Given the description of an element on the screen output the (x, y) to click on. 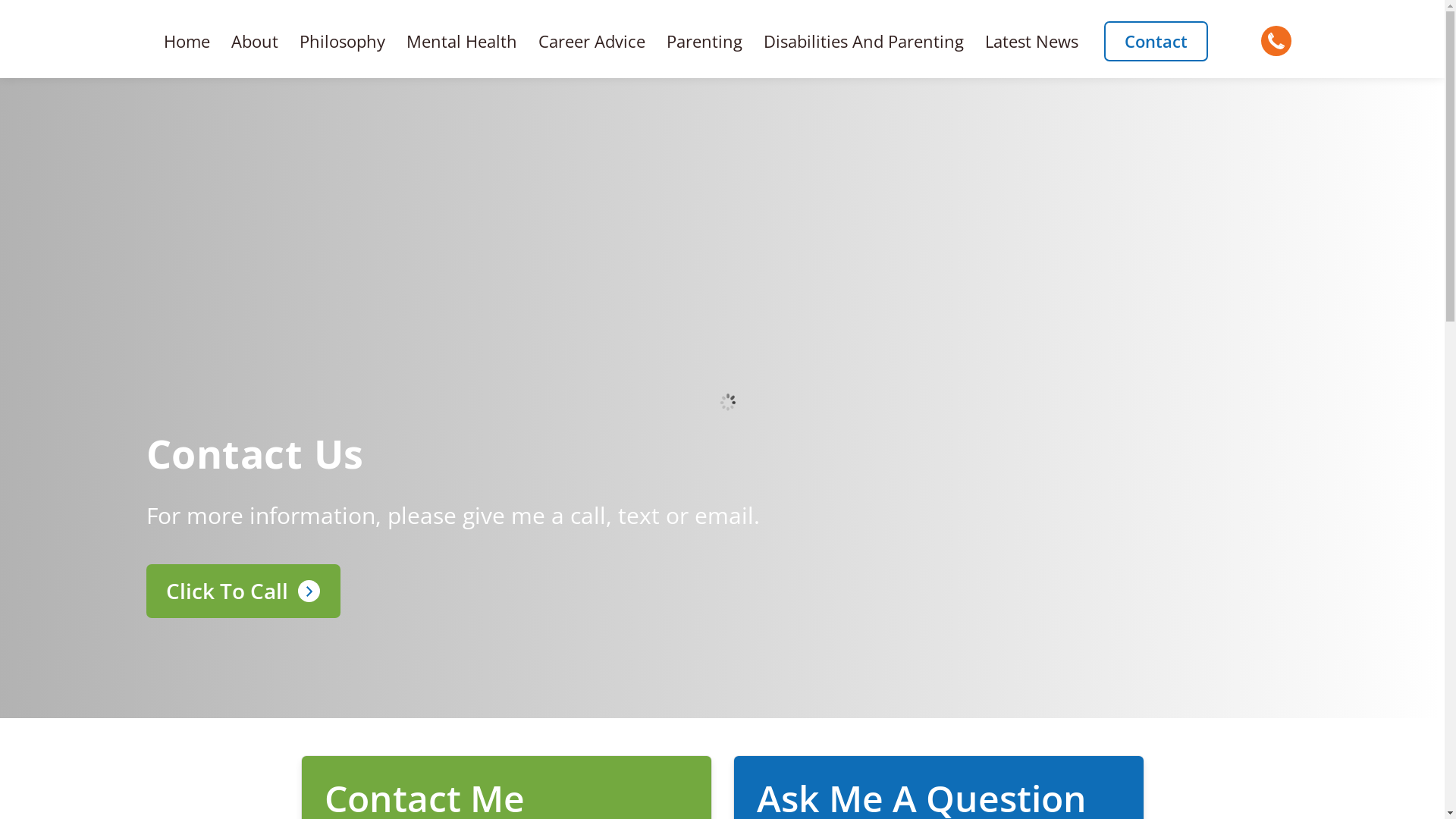
About Element type: text (254, 40)
Disabilities And Parenting Element type: text (863, 40)
Career Advice Element type: text (591, 40)
Parenting Element type: text (704, 40)
Mental Health Element type: text (461, 40)
Click To Call Element type: text (242, 591)
Home Element type: text (186, 40)
Latest News Element type: text (1031, 40)
Contact Element type: text (1156, 41)
Philosophy Element type: text (341, 40)
